Given the description of an element on the screen output the (x, y) to click on. 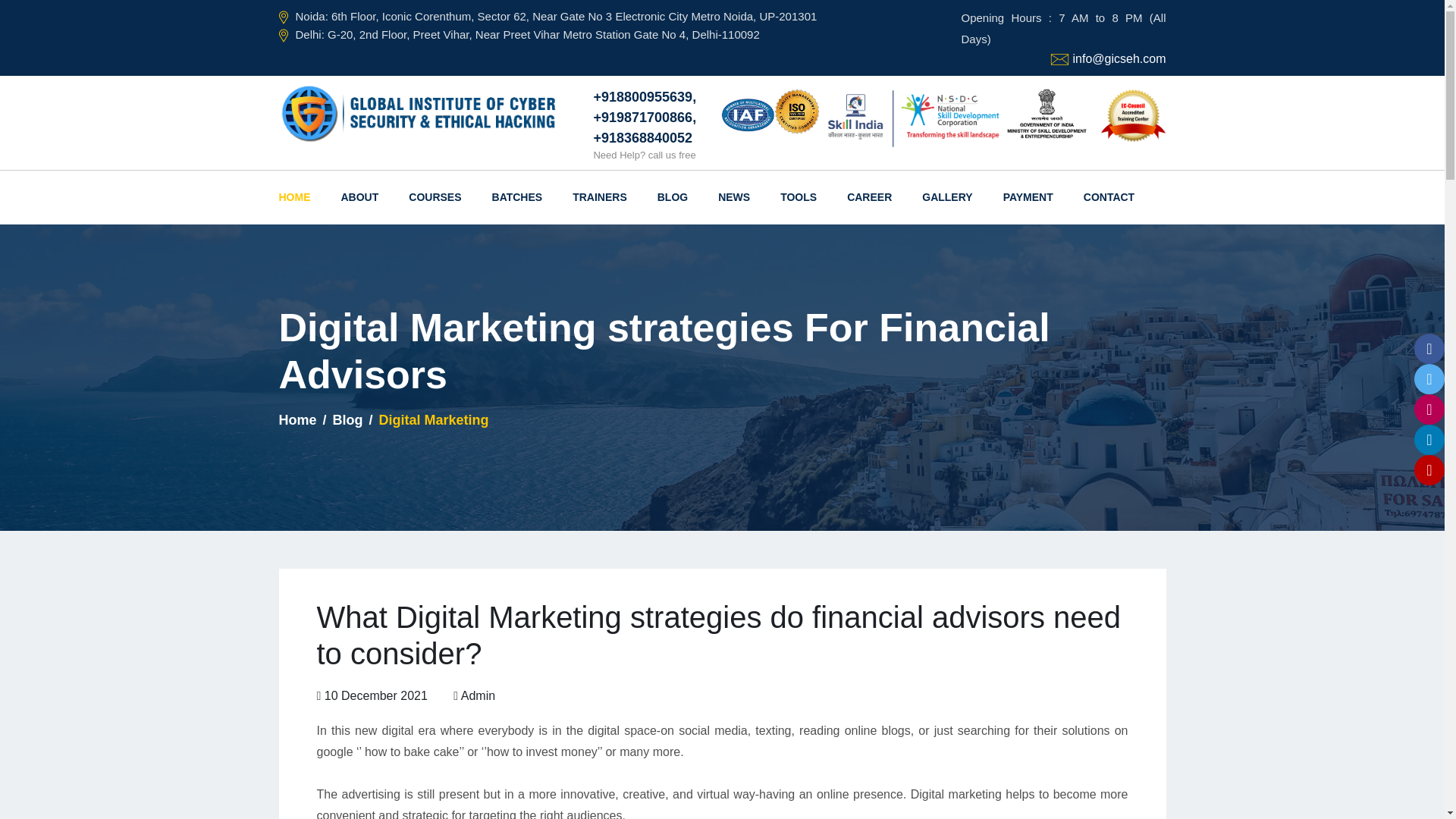
Gallery GICSEH (946, 197)
COURSES (435, 197)
Upcoming Batches (517, 197)
GALLERY (946, 197)
Payment (1027, 197)
BATCHES (517, 197)
Corporate Trainers (599, 197)
TRAINERS (599, 197)
Contact GICSEH (1108, 197)
